Given the description of an element on the screen output the (x, y) to click on. 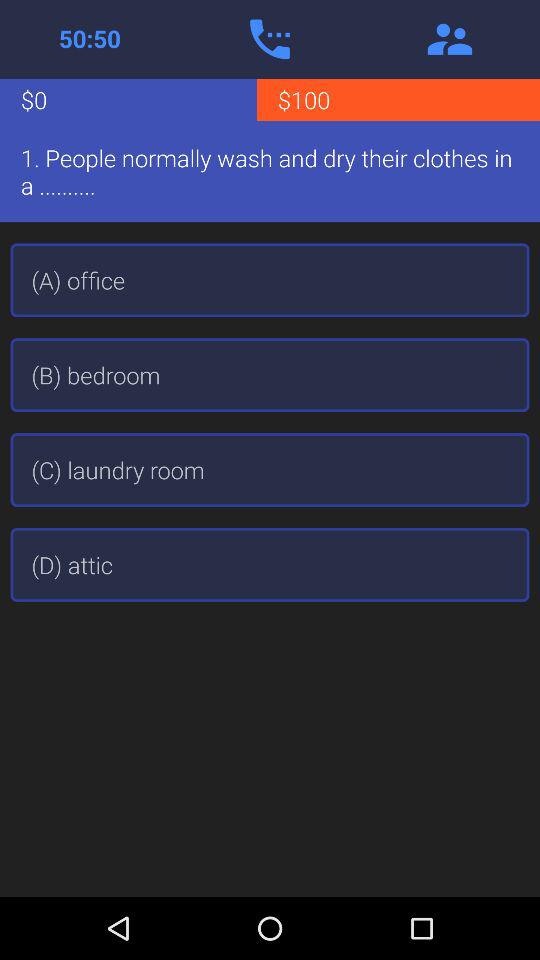
open icon below (a) office icon (269, 375)
